Given the description of an element on the screen output the (x, y) to click on. 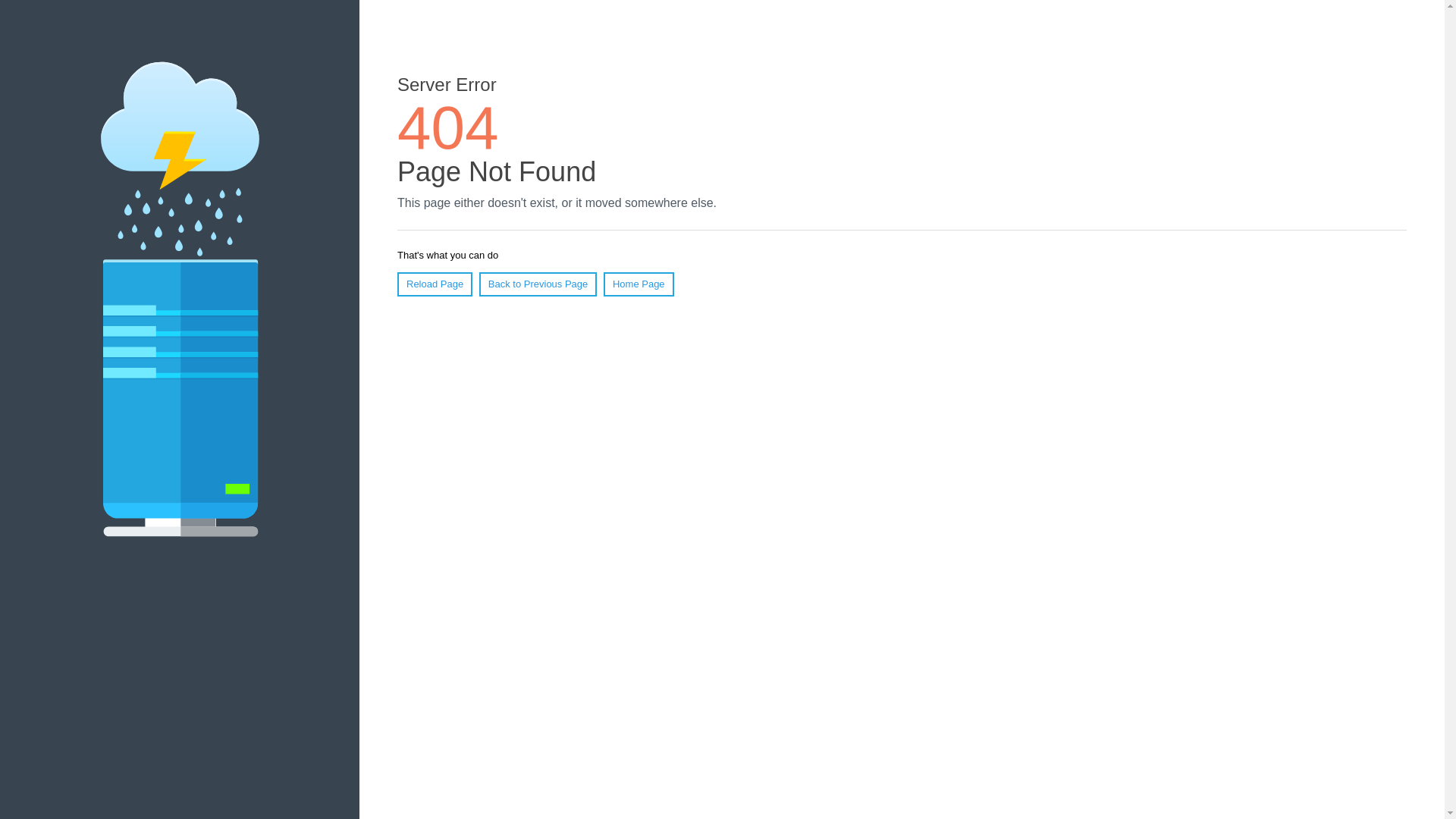
Home Page (639, 283)
Back to Previous Page (537, 283)
Reload Page (434, 283)
